Given the description of an element on the screen output the (x, y) to click on. 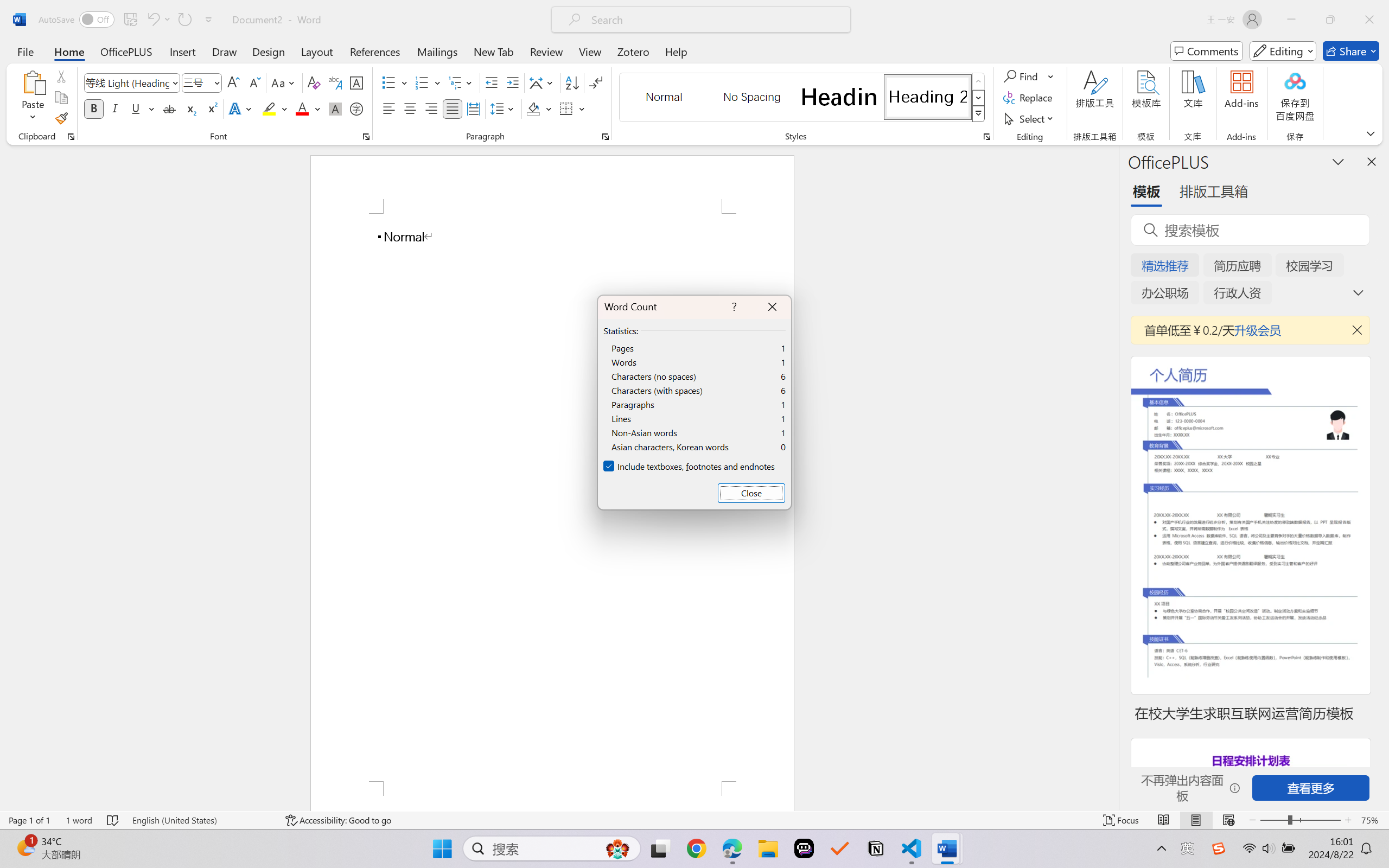
Grow Font (233, 82)
Row Down (978, 97)
Class: NetUIScrollBar (1111, 477)
Spelling and Grammar Check No Errors (113, 819)
Close (751, 492)
Language English (United States) (201, 819)
Share (1350, 51)
Find (1022, 75)
Multilevel List (461, 82)
OfficePLUS (126, 51)
Numbering (428, 82)
Subscript (190, 108)
